Given the description of an element on the screen output the (x, y) to click on. 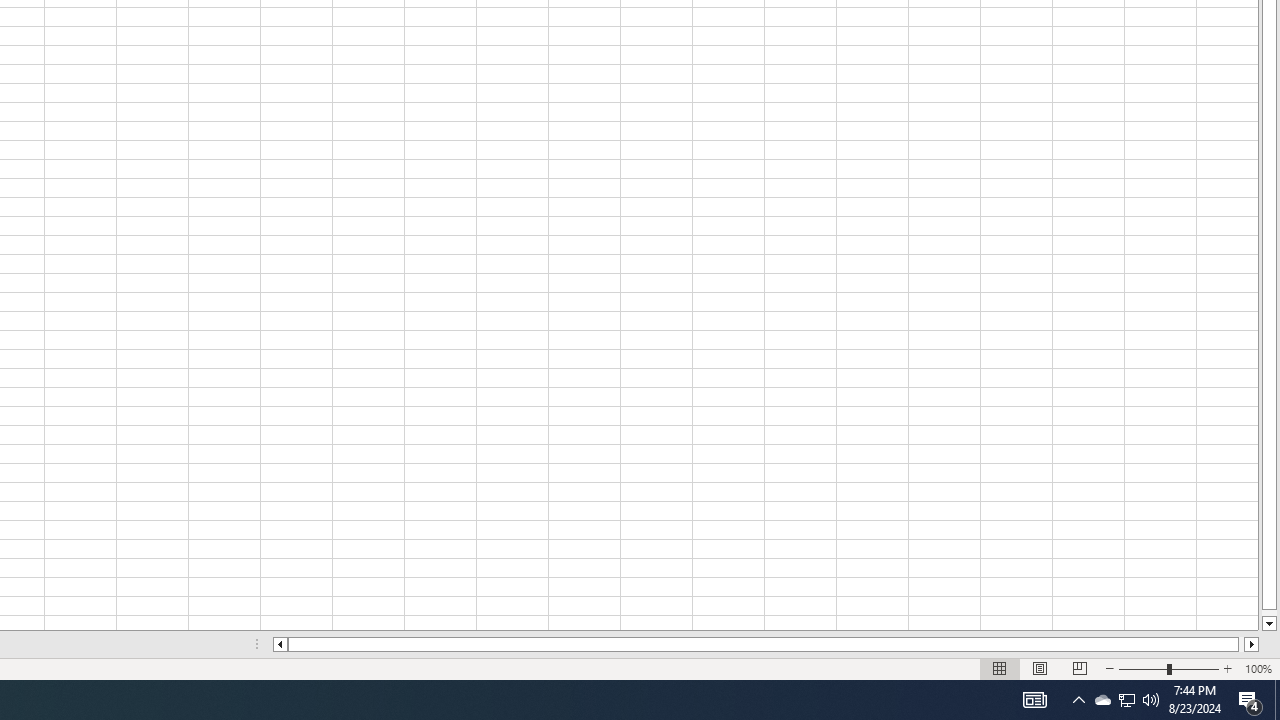
Action Center, 4 new notifications (1250, 699)
User Promoted Notification Area (1126, 699)
Q2790: 100% (1126, 699)
Notification Chevron (1151, 699)
Show desktop (1078, 699)
